Given the description of an element on the screen output the (x, y) to click on. 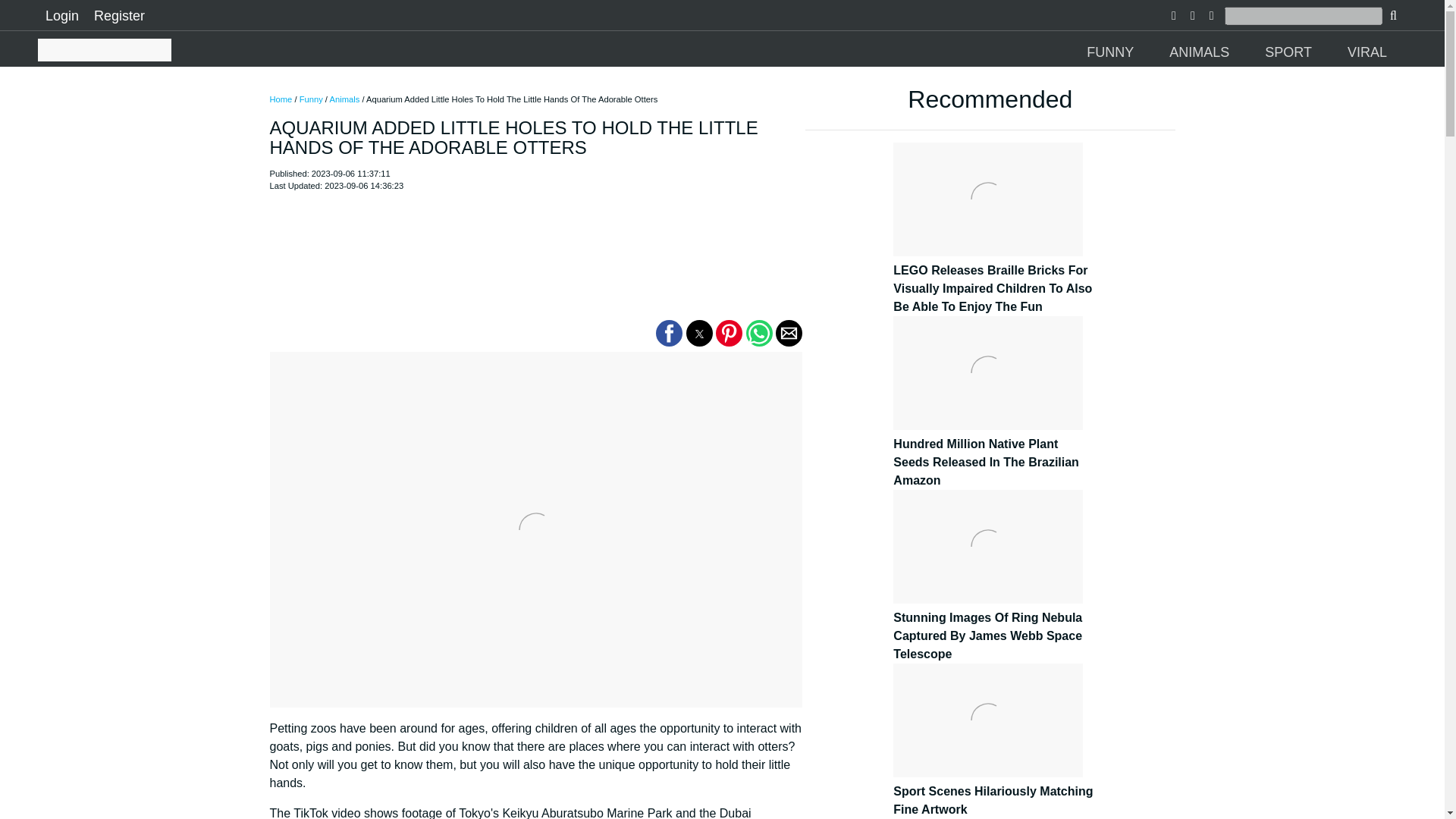
FUNNY (1112, 51)
Home (280, 99)
ANIMALS (1201, 51)
Animals (344, 99)
Register (118, 15)
Sport Scenes Hilariously Matching Fine Artwork (993, 792)
Login (61, 15)
VIRAL (1368, 51)
